Given the description of an element on the screen output the (x, y) to click on. 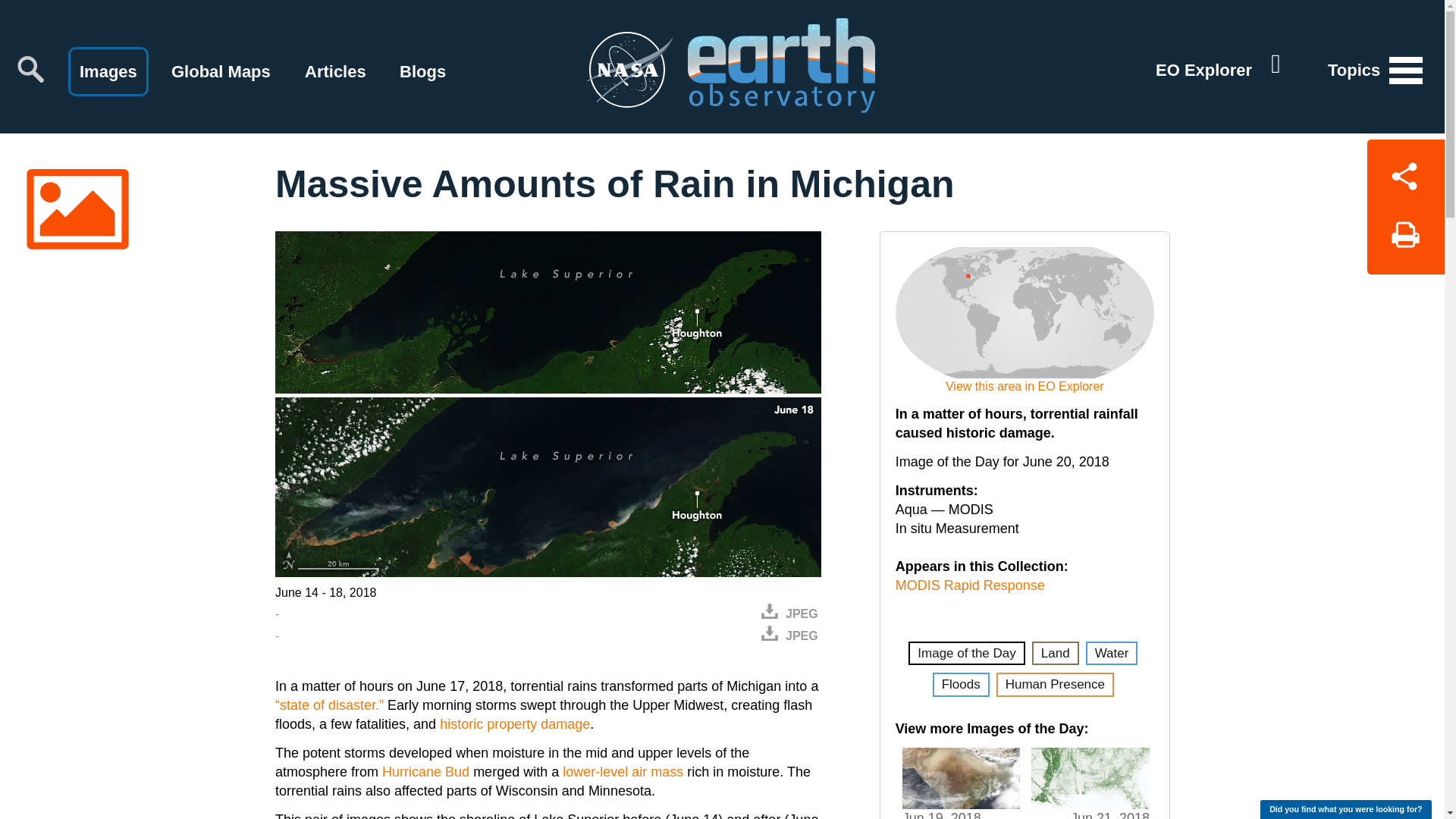
Print (1405, 240)
Share (1405, 173)
